Given the description of an element on the screen output the (x, y) to click on. 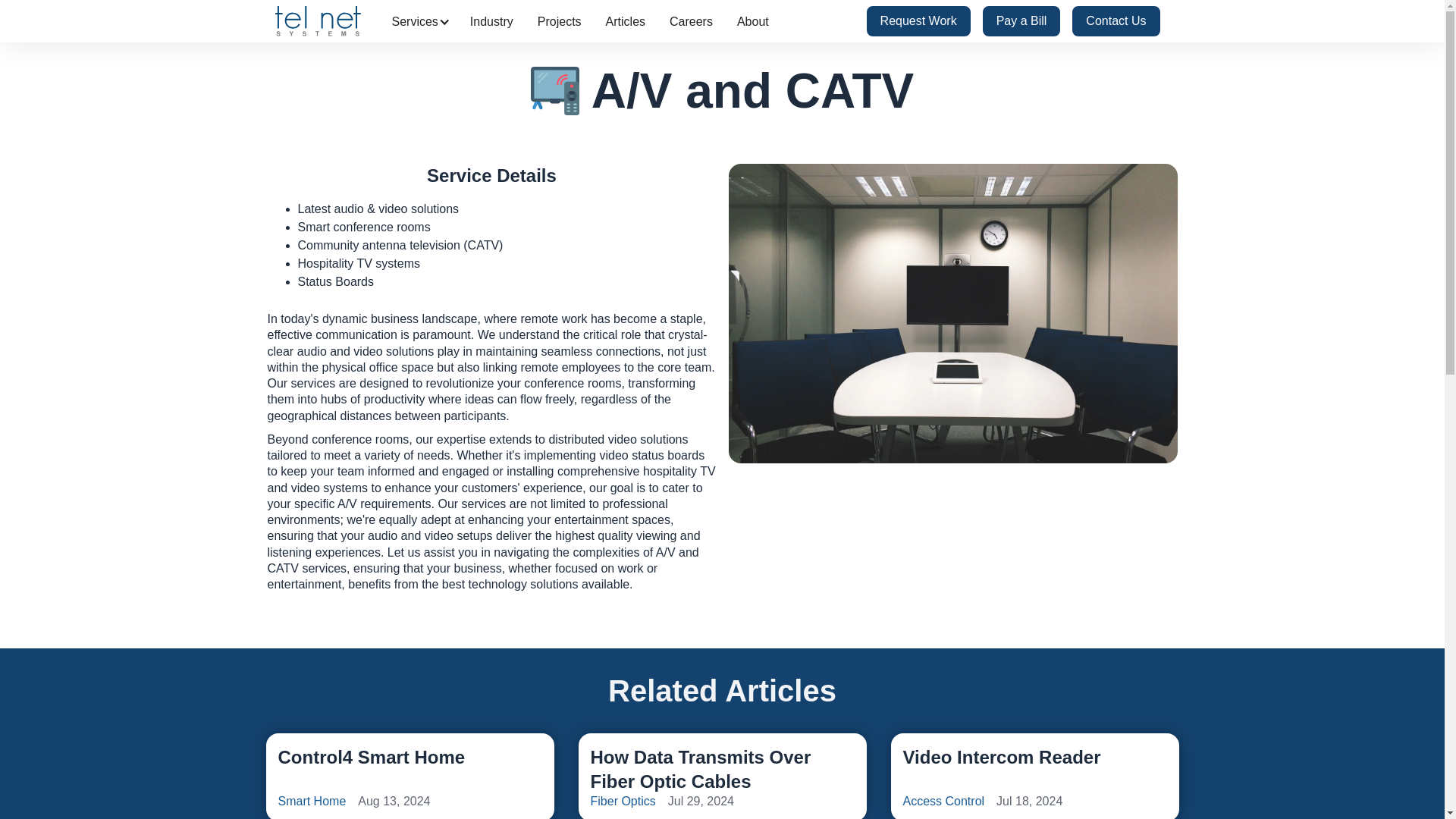
Articles (626, 21)
Careers (691, 21)
Pay a Bill (1021, 20)
About (752, 21)
Request Work (918, 20)
Industry (491, 21)
Projects (408, 776)
Services (559, 21)
